Given the description of an element on the screen output the (x, y) to click on. 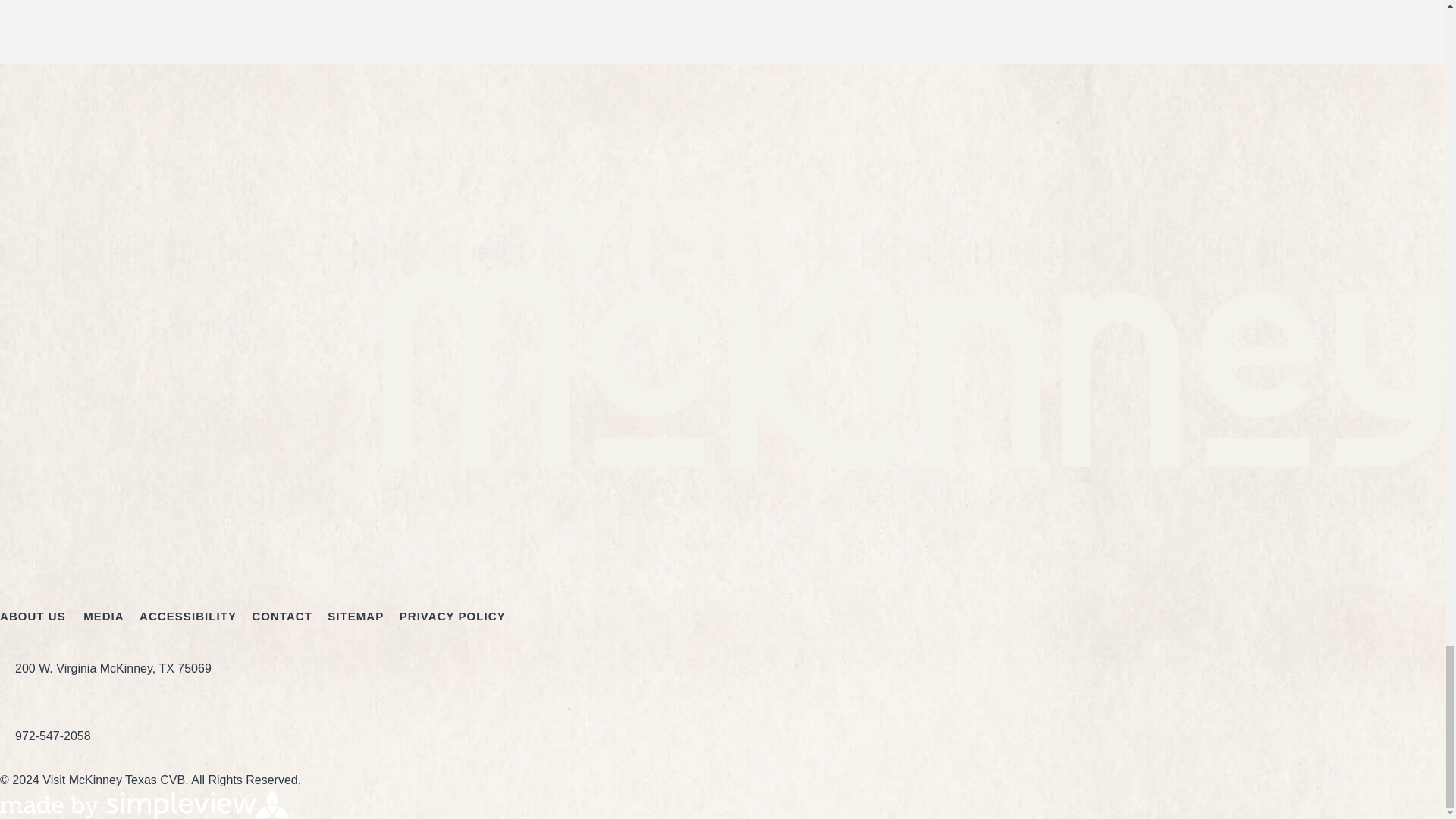
Sitemap (355, 615)
Privacy Policy (451, 615)
Media (102, 615)
About Us (32, 615)
Contact (282, 615)
Accessibility (187, 615)
